Given the description of an element on the screen output the (x, y) to click on. 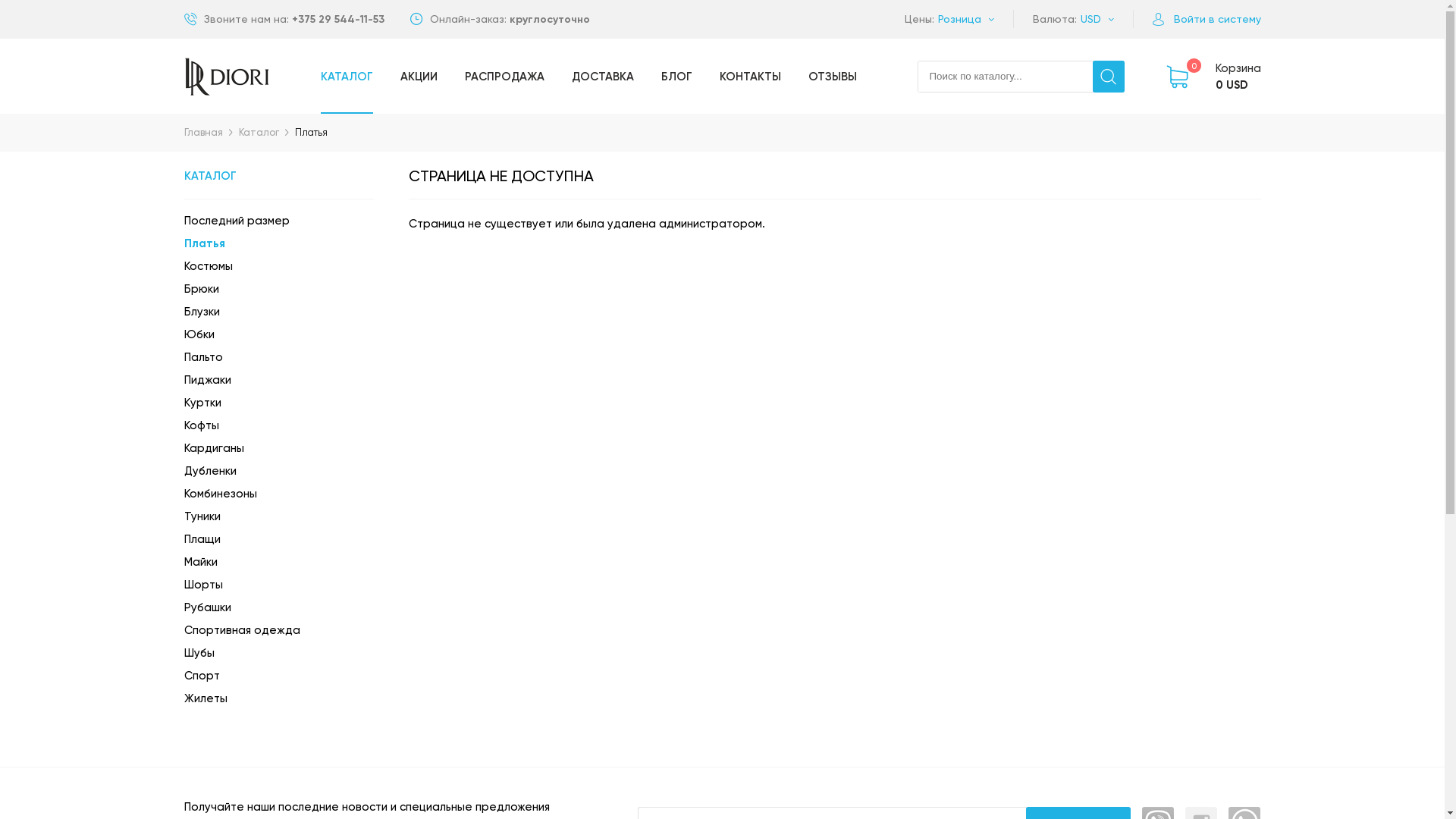
+375 29 544-11-53 Element type: text (337, 18)
